Given the description of an element on the screen output the (x, y) to click on. 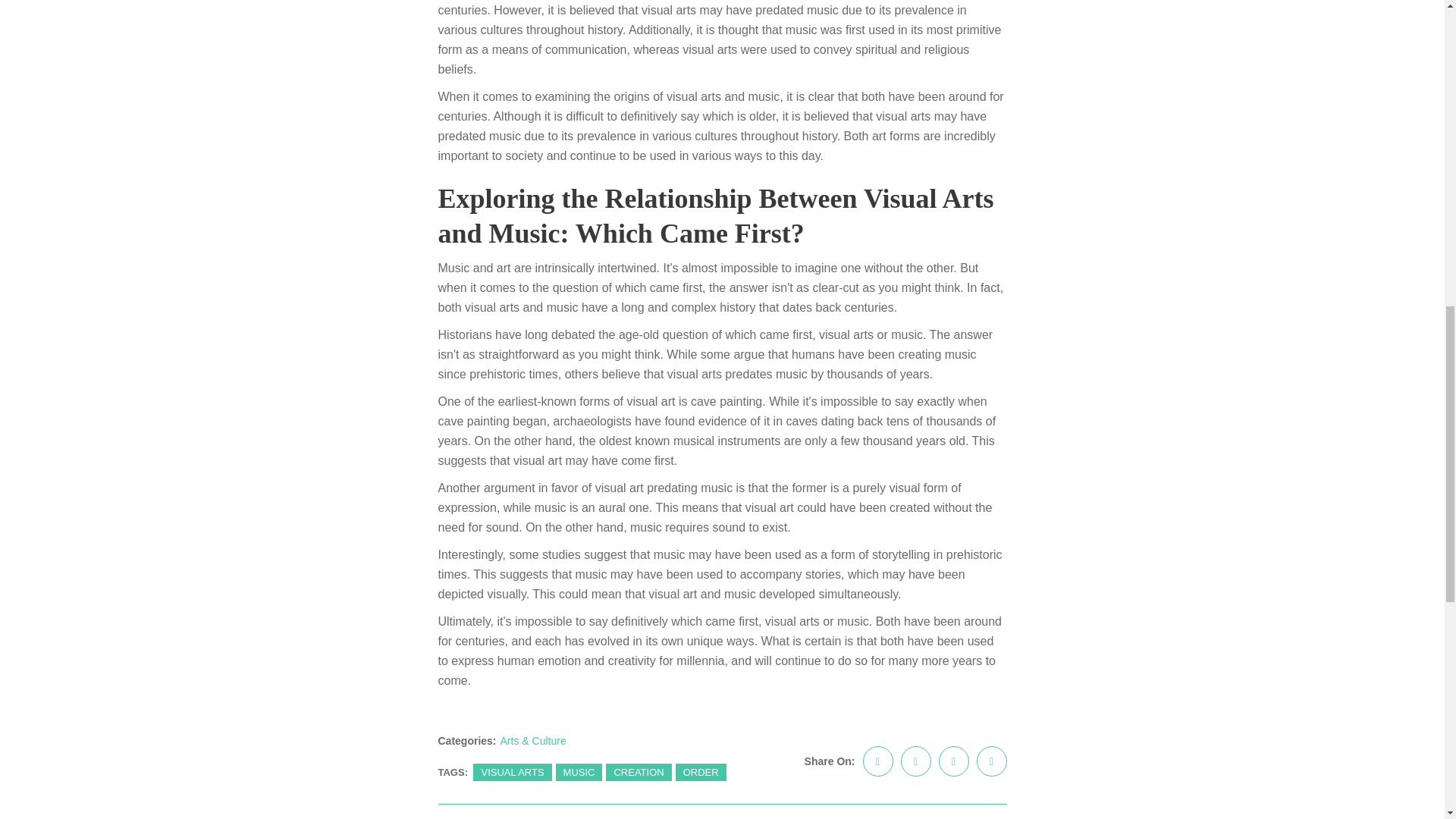
CREATION (638, 772)
Share on Twitter (916, 761)
ORDER (700, 772)
MUSIC (579, 772)
Share on Facebook (878, 761)
VISUAL ARTS (512, 772)
Share on Linkedin (954, 761)
Share on Reddit (991, 761)
